Given the description of an element on the screen output the (x, y) to click on. 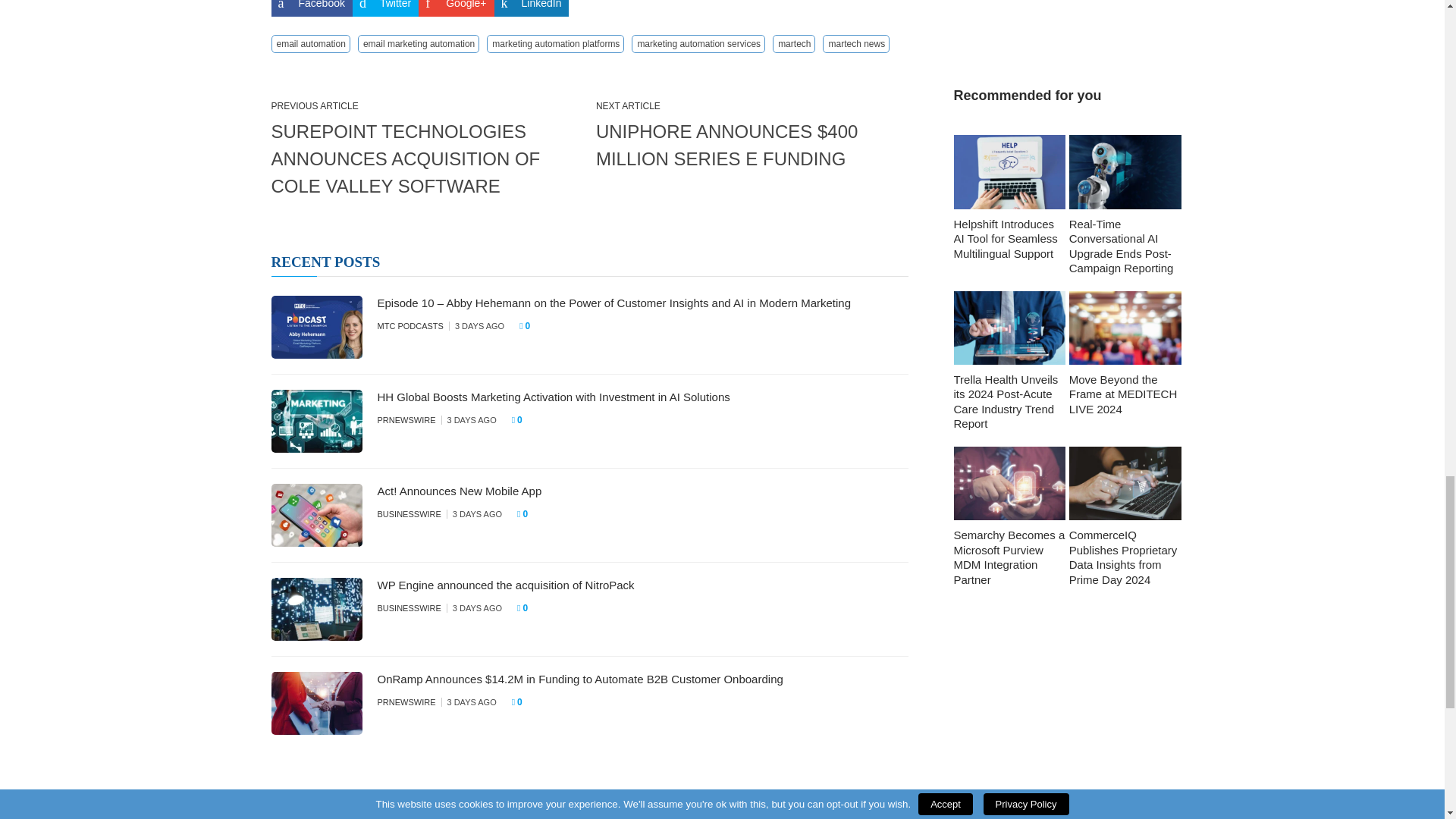
View Act! Announces New Mobile App (459, 490)
View all posts by BusinessWire (409, 607)
Comments (528, 326)
Comments (526, 608)
View all posts by PRNewswire (406, 420)
View WP Engine announced the acquisition of NitroPack (505, 584)
Comments (521, 420)
Comments (526, 514)
View all posts by MTC Podcasts (410, 325)
View all posts by BusinessWire (409, 513)
